Given the description of an element on the screen output the (x, y) to click on. 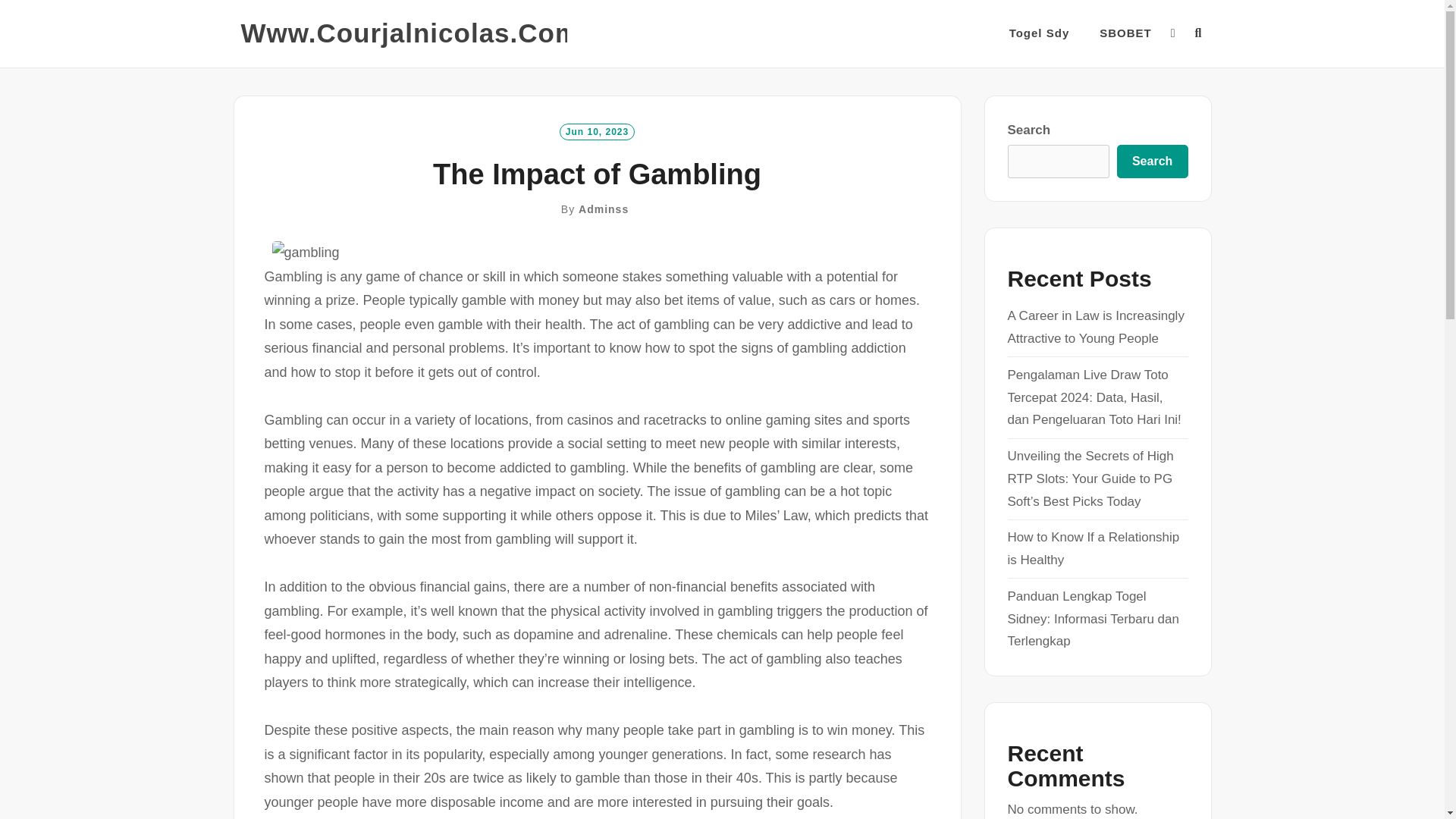
A Career in Law is Increasingly Attractive to Young People (1095, 326)
Adminss (603, 209)
Search (730, 427)
Search (1152, 161)
SBOBET (1125, 33)
How to Know If a Relationship is Healthy (1093, 548)
Jun 10, 2023 (596, 130)
Togel Sdy (1039, 33)
Www.Courjalnicolas.Com (410, 33)
